Given the description of an element on the screen output the (x, y) to click on. 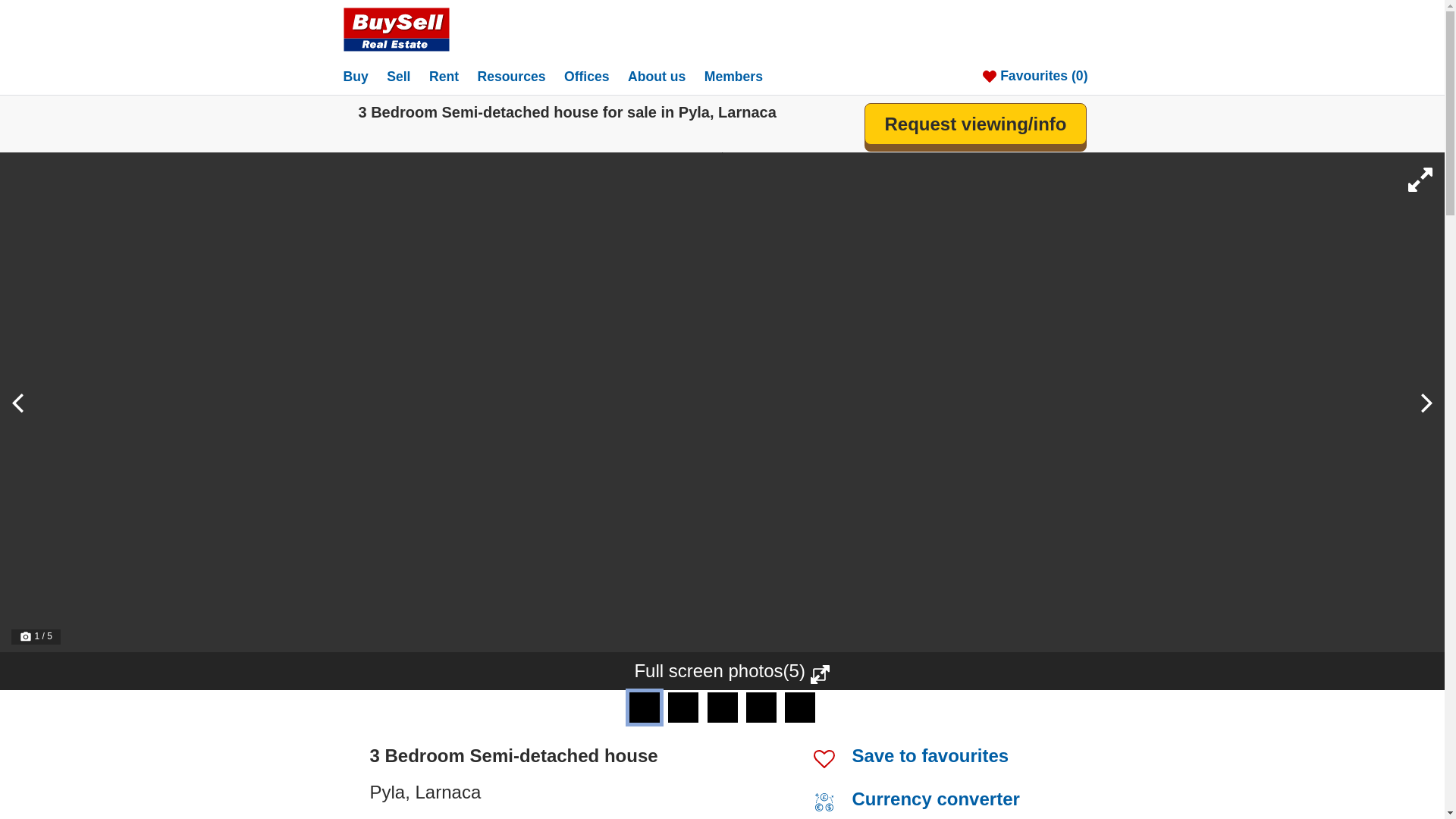
View your favourite properties for sale in Cyprus (1042, 76)
Search criteria for property for sale in Cyprus (362, 76)
Members (740, 76)
Rent (451, 76)
Find Real Estate Agents in Cyprus (594, 76)
Resources (518, 76)
Sign in to your dashboard (740, 76)
Articles related to properties for sale in Cyprus (518, 76)
